Given the description of an element on the screen output the (x, y) to click on. 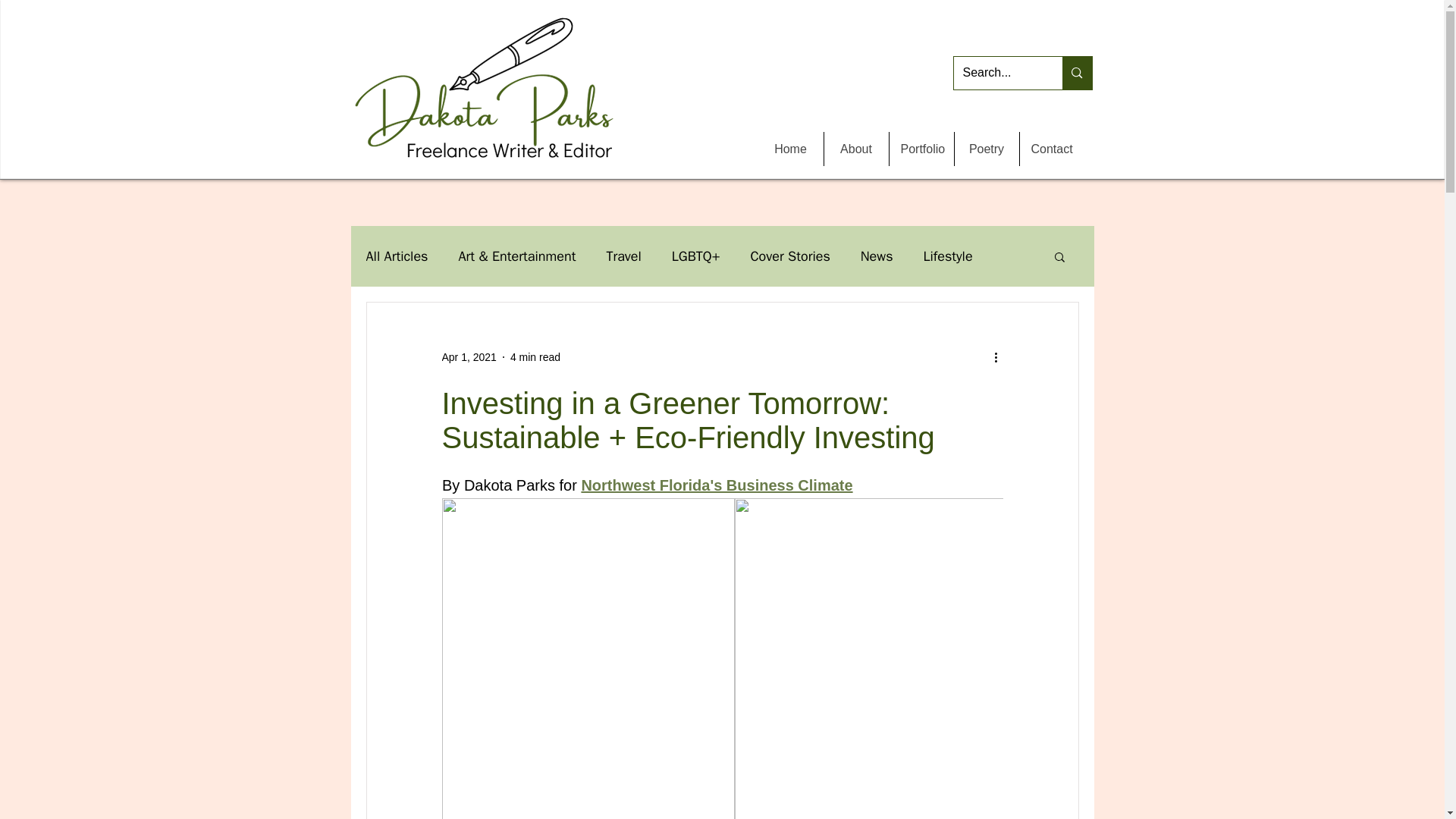
Contact (1051, 148)
Cover Stories (789, 256)
All Articles (396, 256)
News (876, 256)
Travel (622, 256)
Poetry (986, 148)
4 min read (535, 356)
Lifestyle (947, 256)
About (856, 148)
Apr 1, 2021 (468, 356)
Northwest Florida's Business Climate (715, 485)
Portfolio (920, 148)
Home (791, 148)
